Given the description of an element on the screen output the (x, y) to click on. 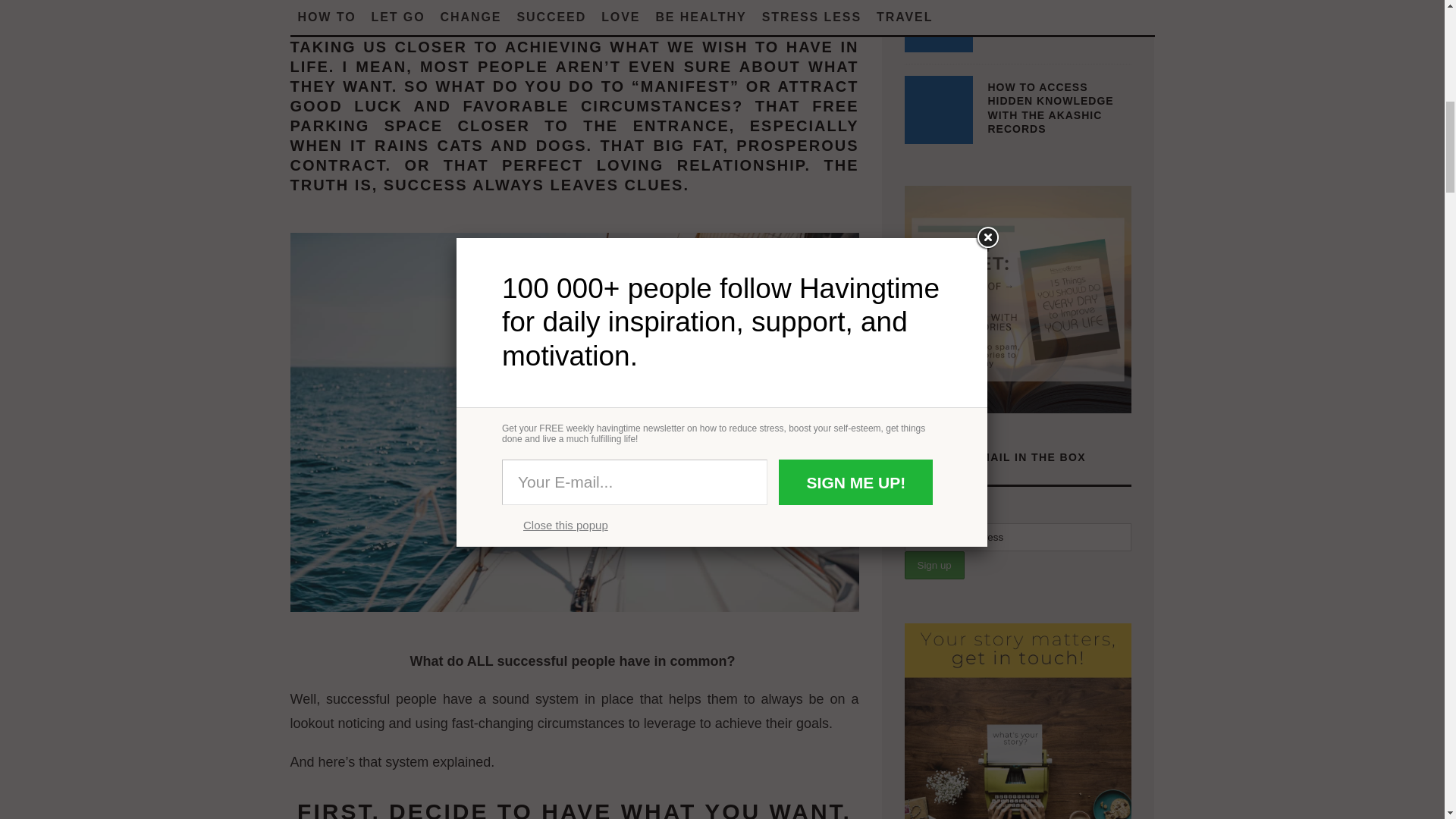
Sign up (933, 565)
